Given the description of an element on the screen output the (x, y) to click on. 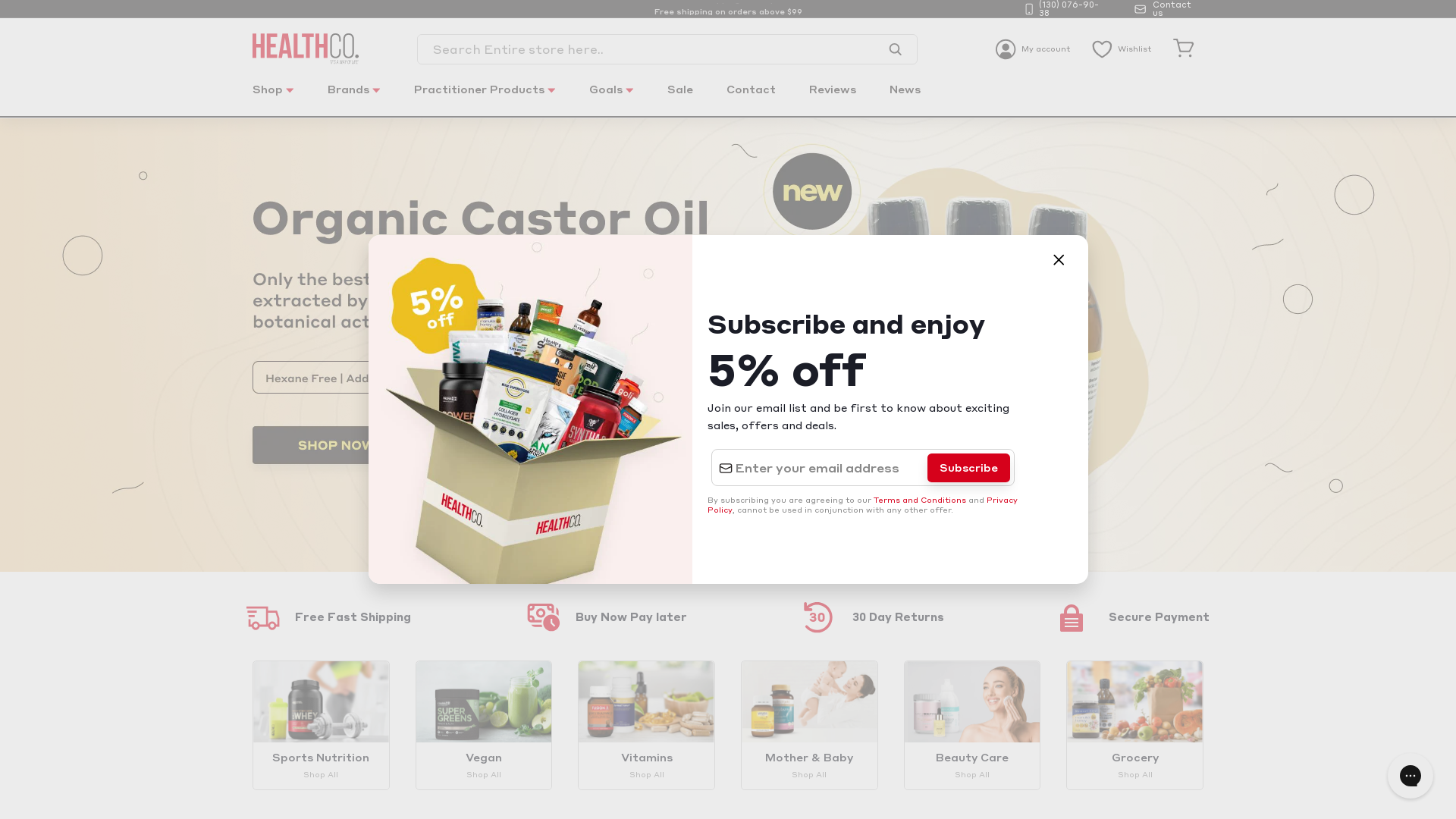
News Element type: text (904, 98)
Beauty Care
Shop All Element type: text (972, 725)
My account Element type: text (1032, 48)
"Close (esc)" Element type: text (1057, 259)
Mother & Baby
Shop All Element type: text (809, 725)
Sale Element type: text (680, 98)
Grocery
Shop All Element type: text (1134, 725)
Vegan
Shop All Element type: text (483, 725)
Contact Element type: text (750, 98)
Gorgias live chat messenger Element type: hover (1410, 775)
Shop Element type: text (273, 98)
Sports Nutrition
Shop All Element type: text (320, 725)
Practitioner Products Element type: text (484, 98)
Search Element type: text (894, 48)
Brands Element type: text (353, 98)
Contact us Element type: text (1168, 8)
(130) 076-90-38 Element type: text (1066, 8)
Skip to content Element type: text (0, 0)
Goals Element type: text (611, 98)
Reviews Element type: text (832, 98)
Subscribe Element type: text (968, 467)
Privacy Policy Element type: text (862, 504)
Terms and Conditions Element type: text (919, 500)
Vitamins
Shop All Element type: text (646, 725)
Wishlist Element type: text (1121, 48)
